Given the description of an element on the screen output the (x, y) to click on. 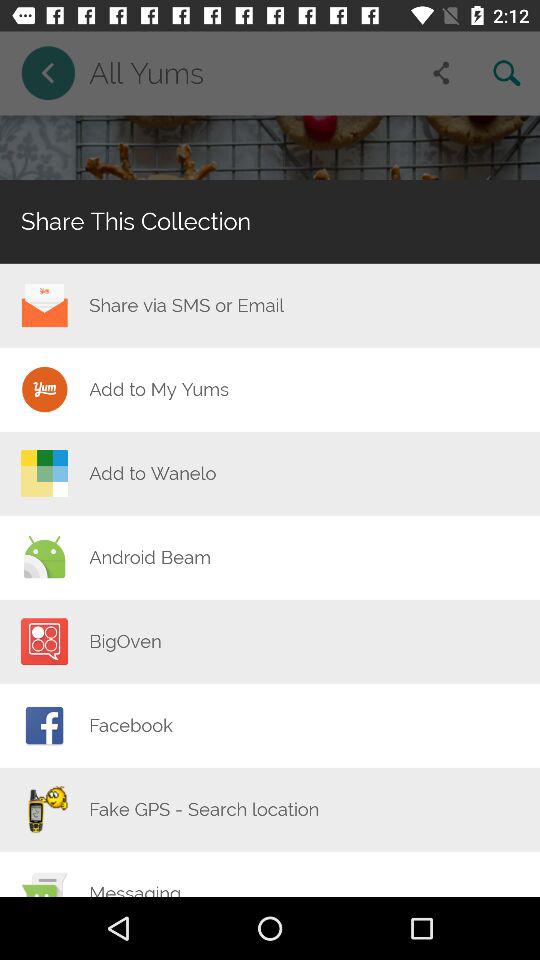
turn off android beam (150, 557)
